Given the description of an element on the screen output the (x, y) to click on. 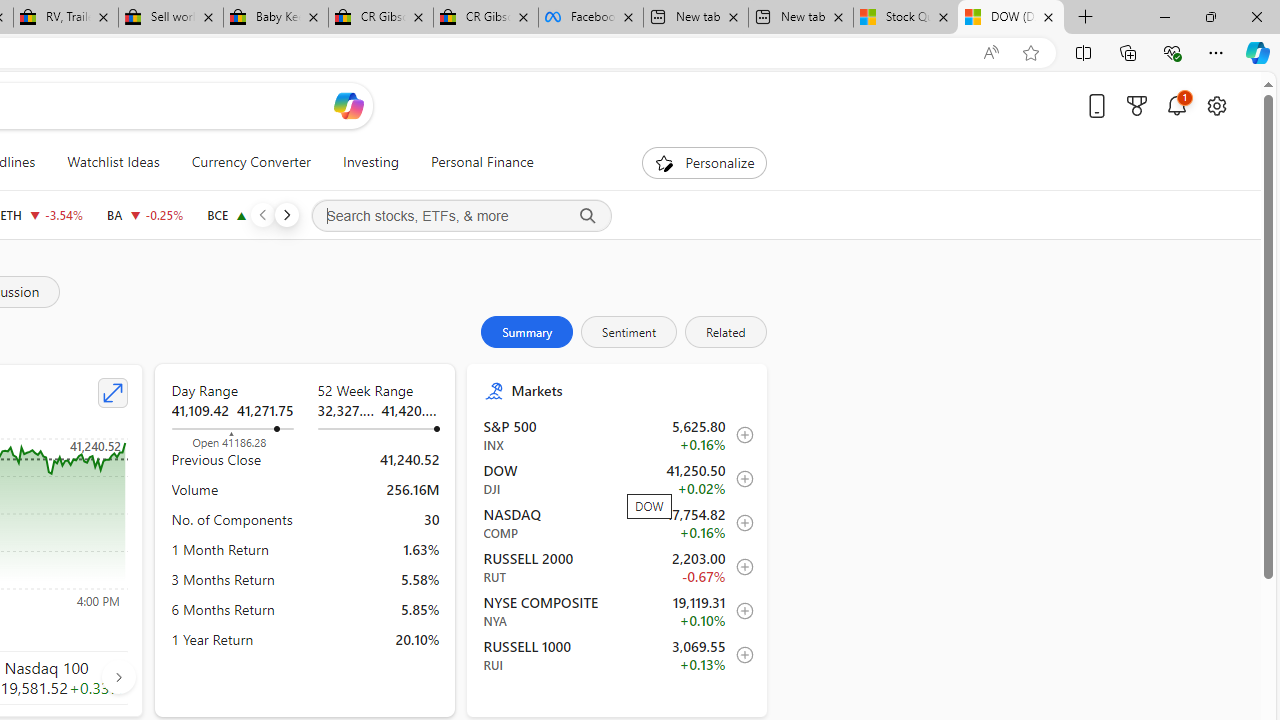
AutomationID: finance_carousel_navi_right (118, 677)
BCE BCE Inc increase 35.22 +0.08 +0.23% (249, 214)
Class: notInWatclistIcon-DS-EntryPoint1-5 lightTheme (739, 655)
Currency Converter (250, 162)
Search stocks, ETFs, & more (461, 215)
